Given the description of an element on the screen output the (x, y) to click on. 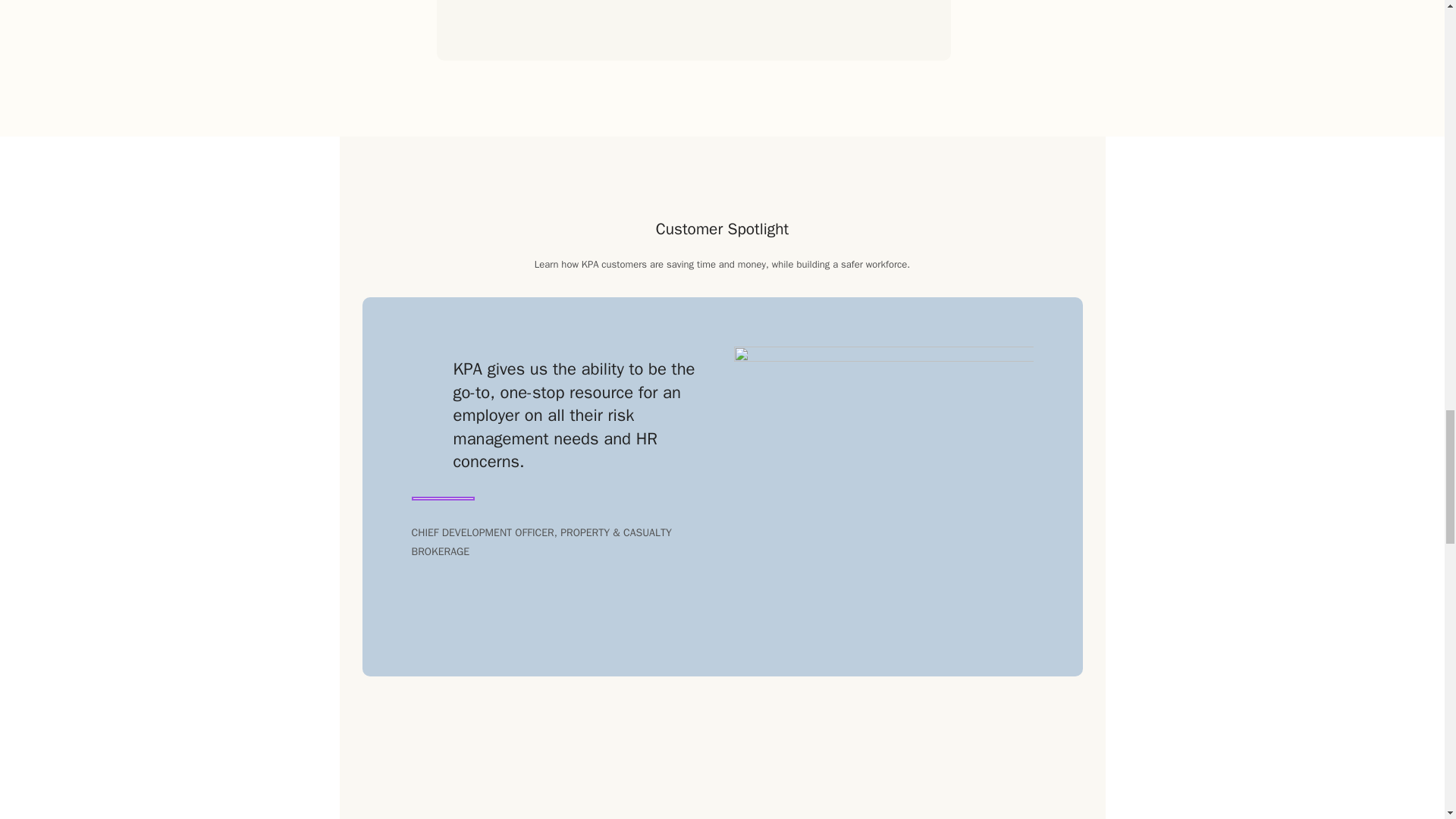
cs - ehs software dashboard (883, 467)
